Given the description of an element on the screen output the (x, y) to click on. 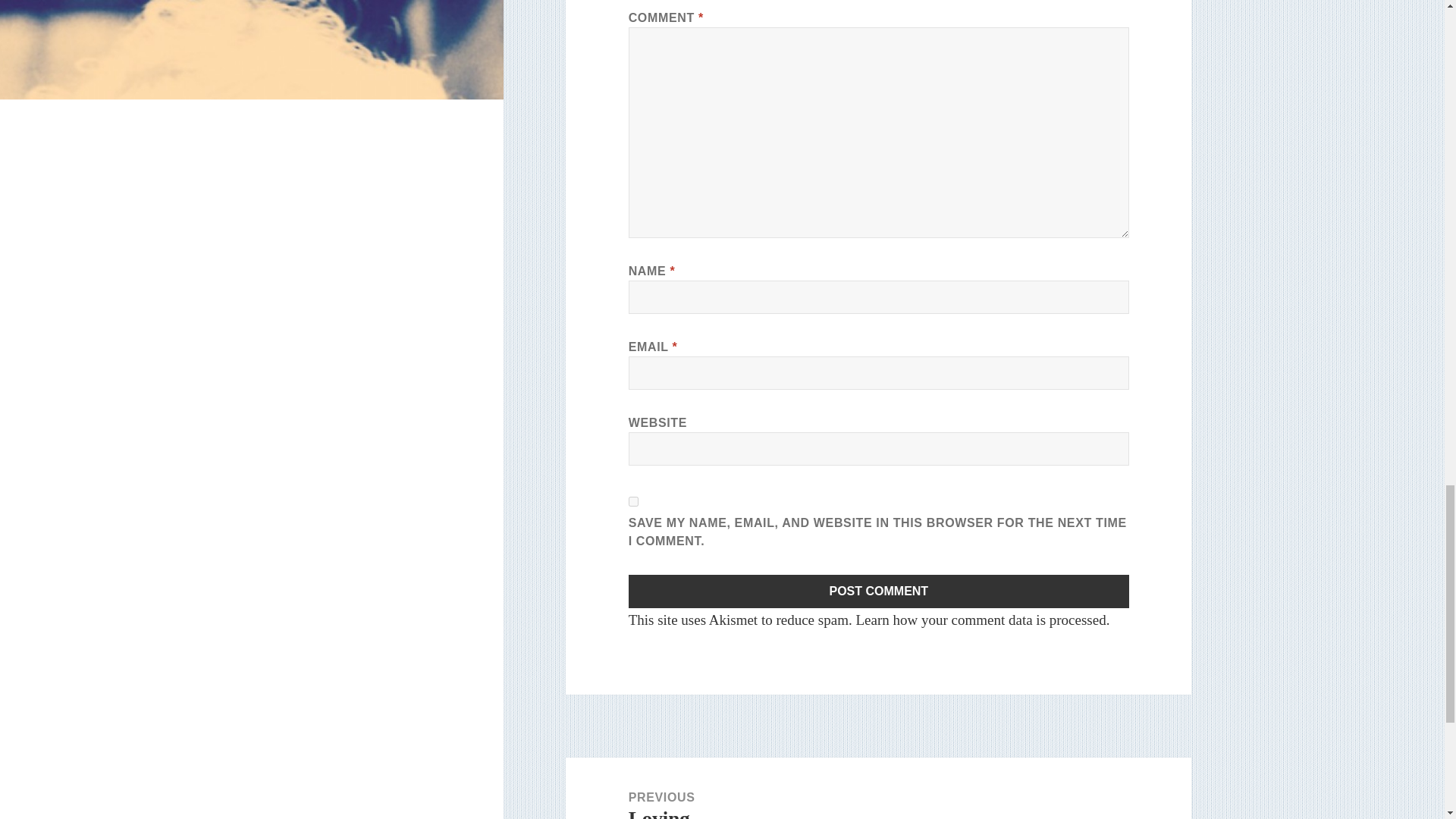
Post Comment (878, 591)
yes (633, 501)
Learn how your comment data is processed (878, 788)
Post Comment (980, 619)
